Given the description of an element on the screen output the (x, y) to click on. 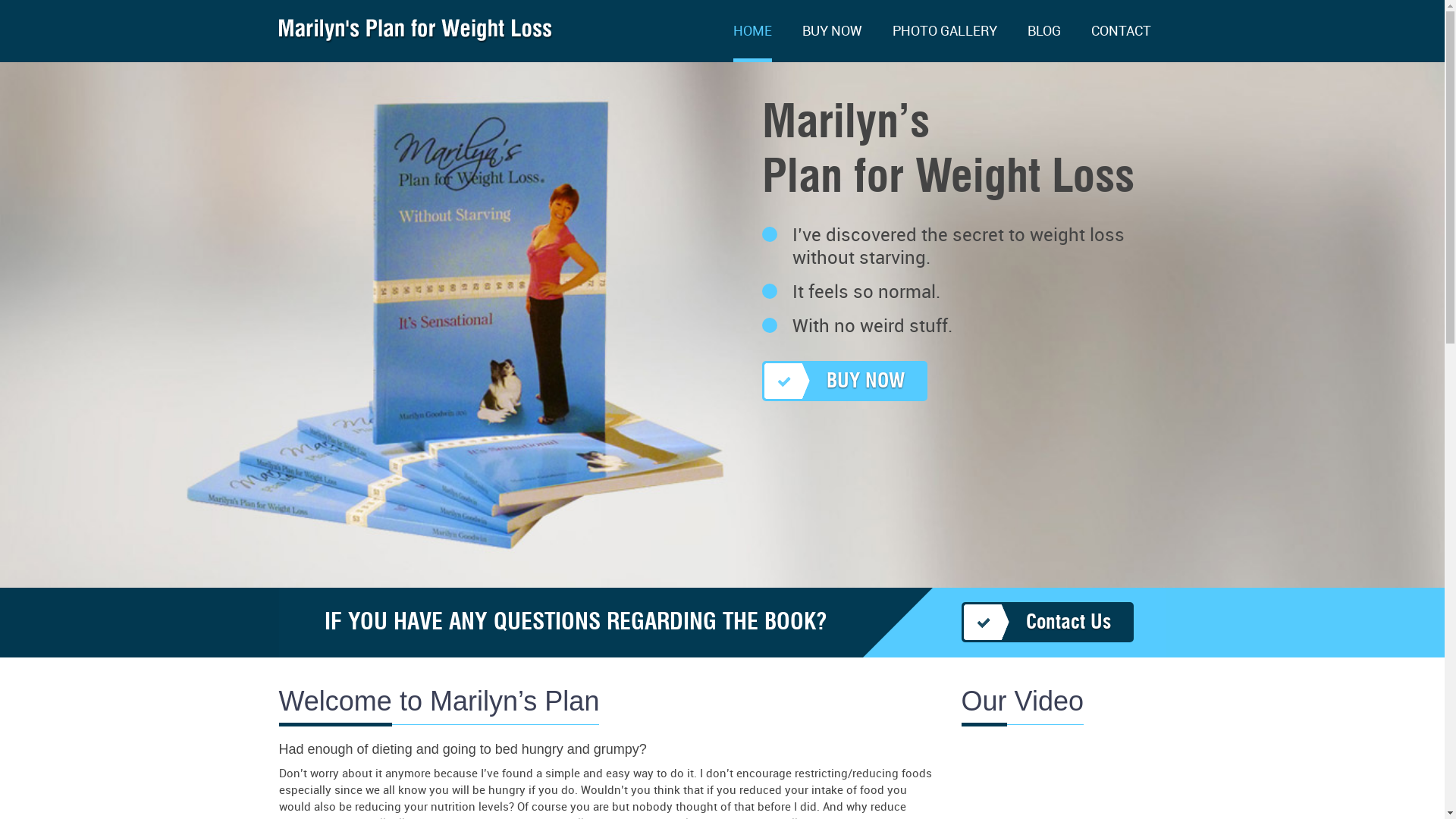
BLOG Element type: text (1043, 43)
BUY NOW Element type: text (843, 380)
HOME Element type: text (751, 43)
BUY NOW Element type: text (832, 43)
Contact Us Element type: text (1047, 622)
PHOTO GALLERY Element type: text (943, 43)
Marilyn's Plan for Weight Loss Element type: hover (416, 36)
CONTACT Element type: text (1120, 43)
